Given the description of an element on the screen output the (x, y) to click on. 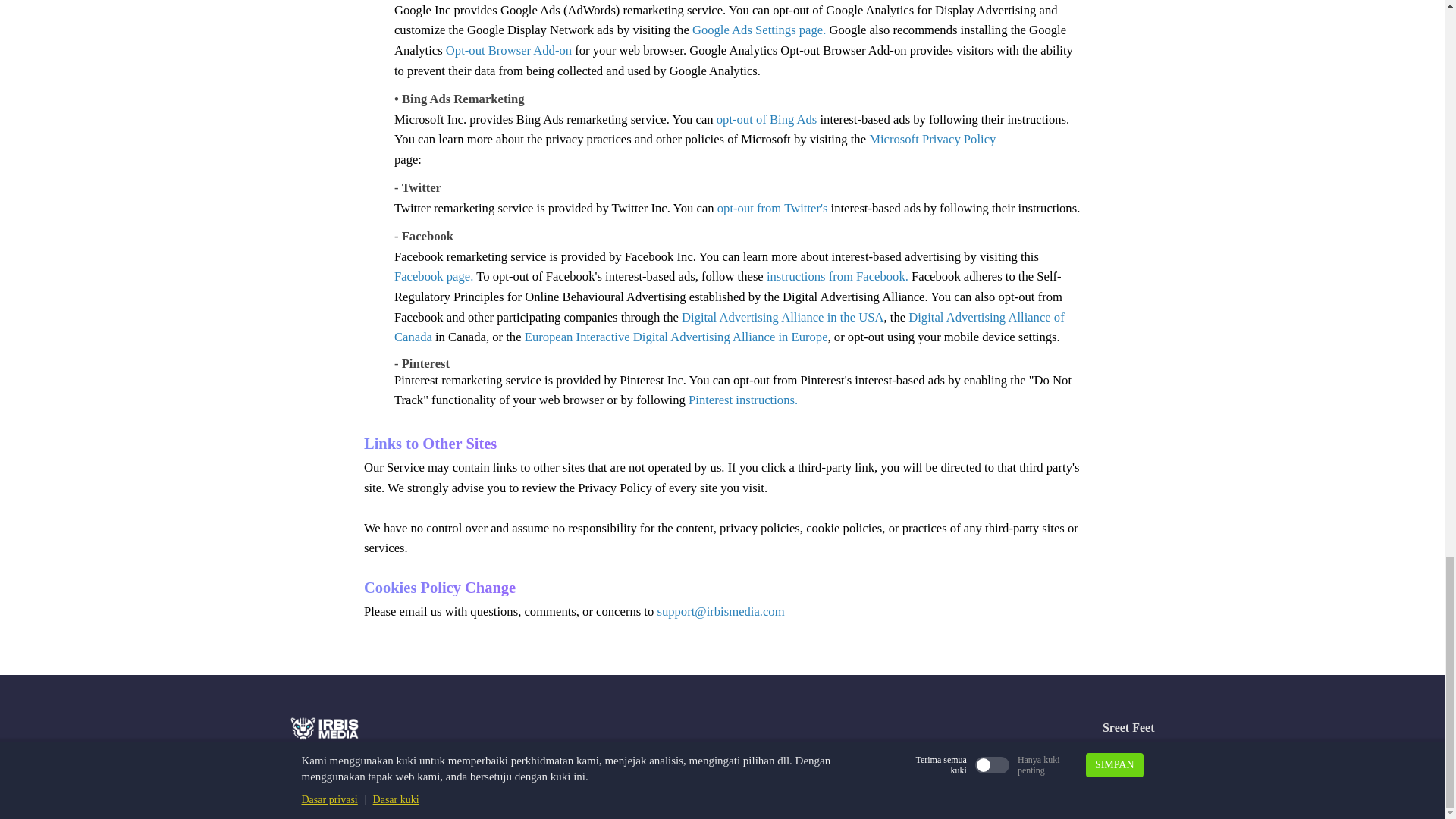
instructions from Facebook. (837, 276)
Digital Advertising Alliance in the USA (782, 317)
Digital Advertising Alliance of Canada (729, 327)
Google Ads Settings page. (759, 29)
Pinterest instructions. (742, 400)
pt-out from Twitter's (775, 207)
Facebook page. (435, 276)
Microsoft Privacy Policy (932, 138)
opt-out of Bing Ads (768, 119)
Opt-out Browser Add-on (508, 50)
European Interactive Digital Advertising Alliance in Europe (676, 336)
Cookie Policy (953, 773)
Privacy Policy (1038, 773)
Digital Image License (852, 773)
Terms of Use (1117, 773)
